Given the description of an element on the screen output the (x, y) to click on. 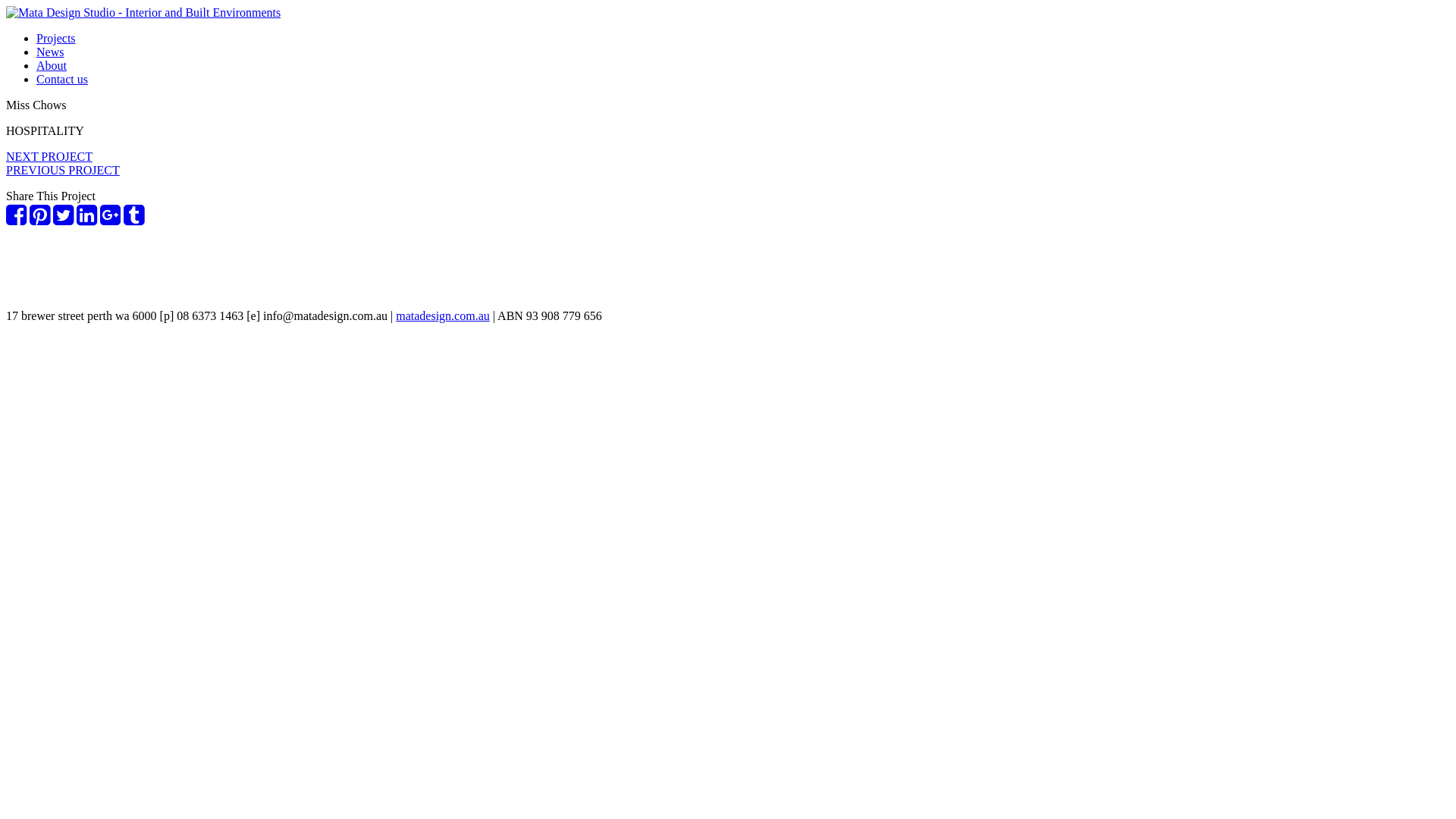
NEXT PROJECT Element type: text (49, 156)
Projects Element type: text (55, 37)
matadesign.com.au Element type: text (442, 315)
PREVIOUS PROJECT Element type: text (62, 169)
News Element type: text (49, 51)
Contact us Element type: text (61, 78)
About Element type: text (51, 65)
